Given the description of an element on the screen output the (x, y) to click on. 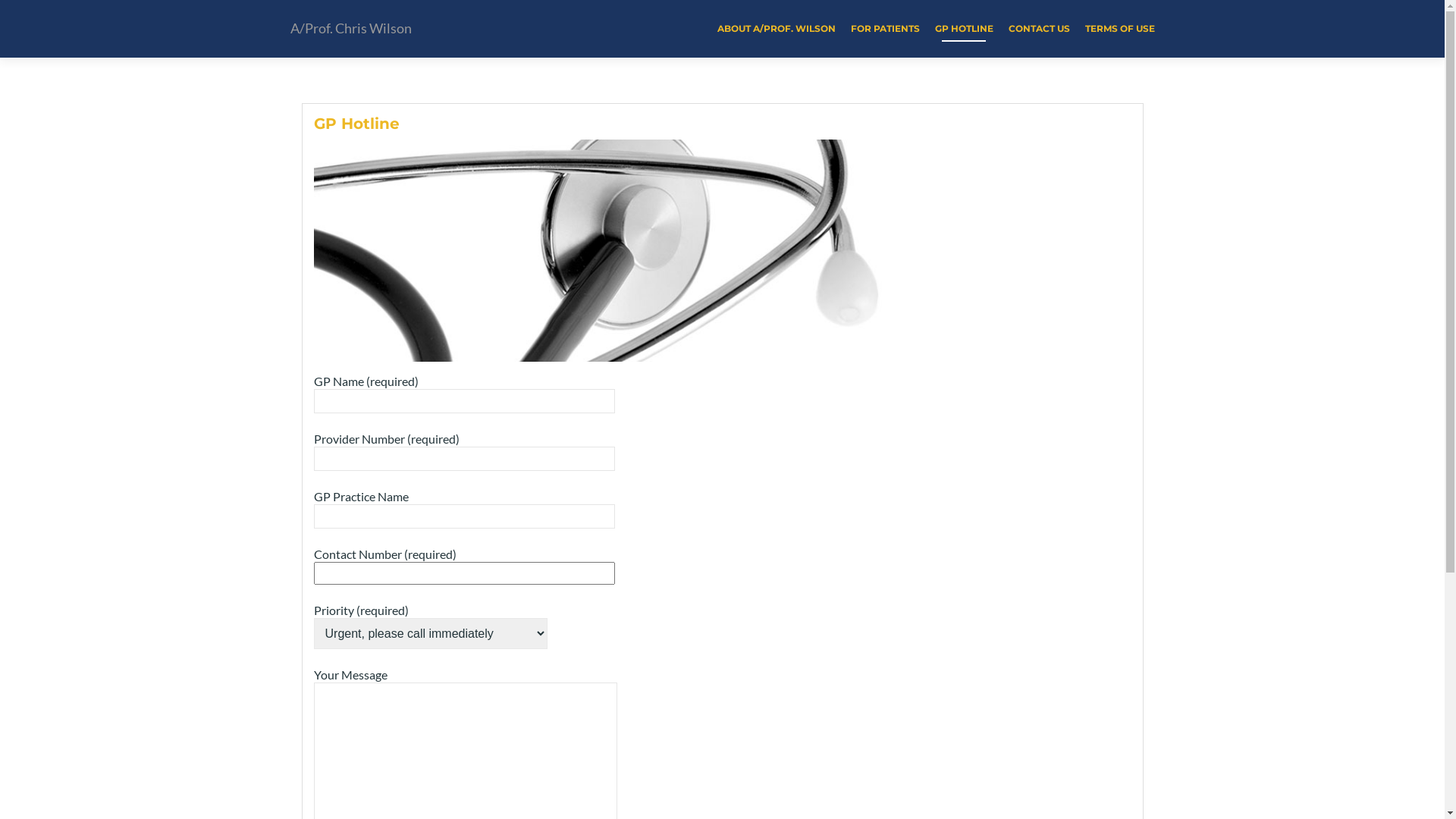
TERMS OF USE Element type: text (1119, 28)
A/Prof. Chris Wilson Element type: text (351, 28)
FOR PATIENTS Element type: text (884, 28)
ABOUT A/PROF. WILSON Element type: text (776, 28)
CONTACT US Element type: text (1039, 28)
GP HOTLINE Element type: text (963, 28)
